Given the description of an element on the screen output the (x, y) to click on. 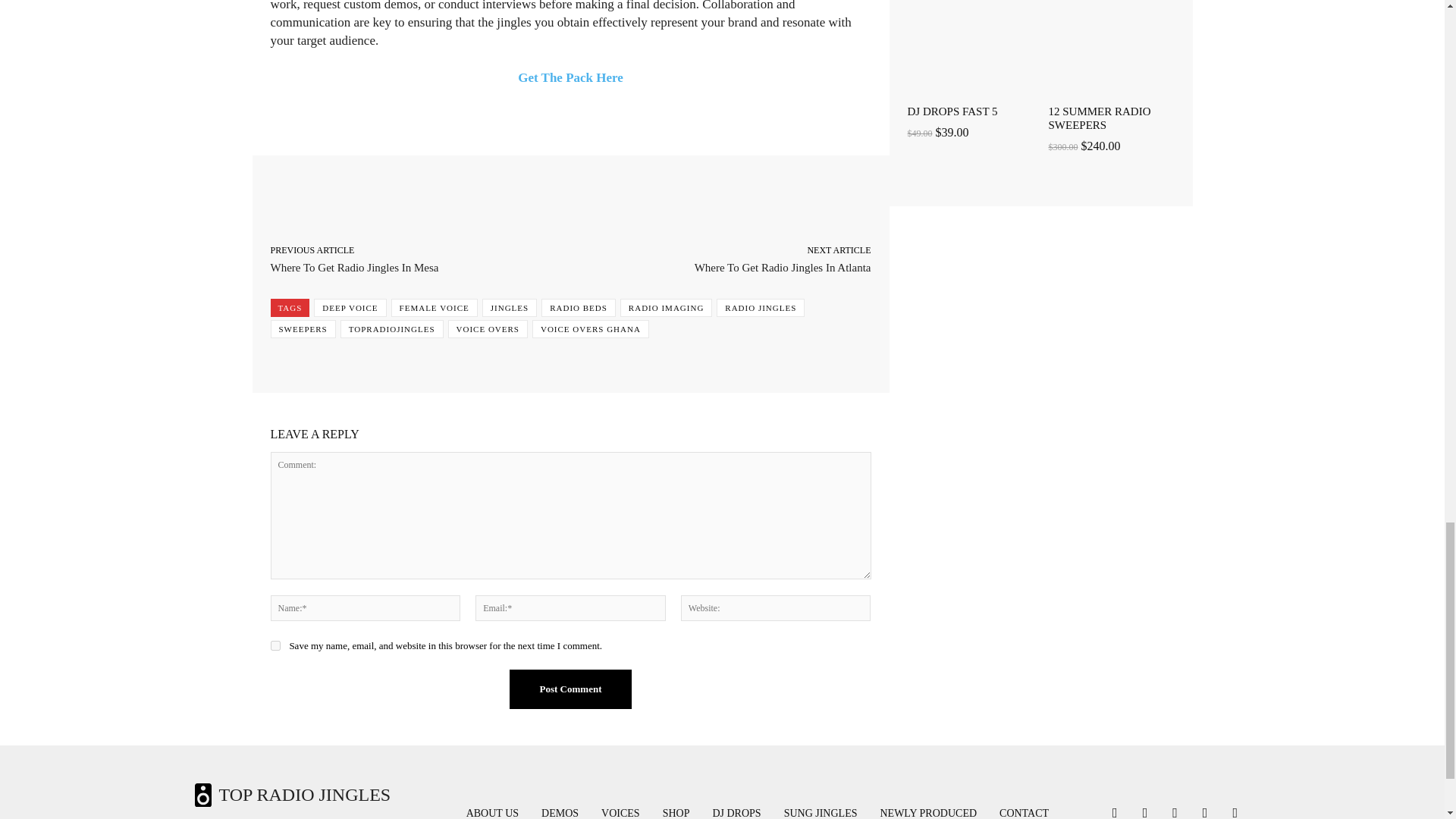
Post Comment (570, 689)
yes (274, 645)
